Given the description of an element on the screen output the (x, y) to click on. 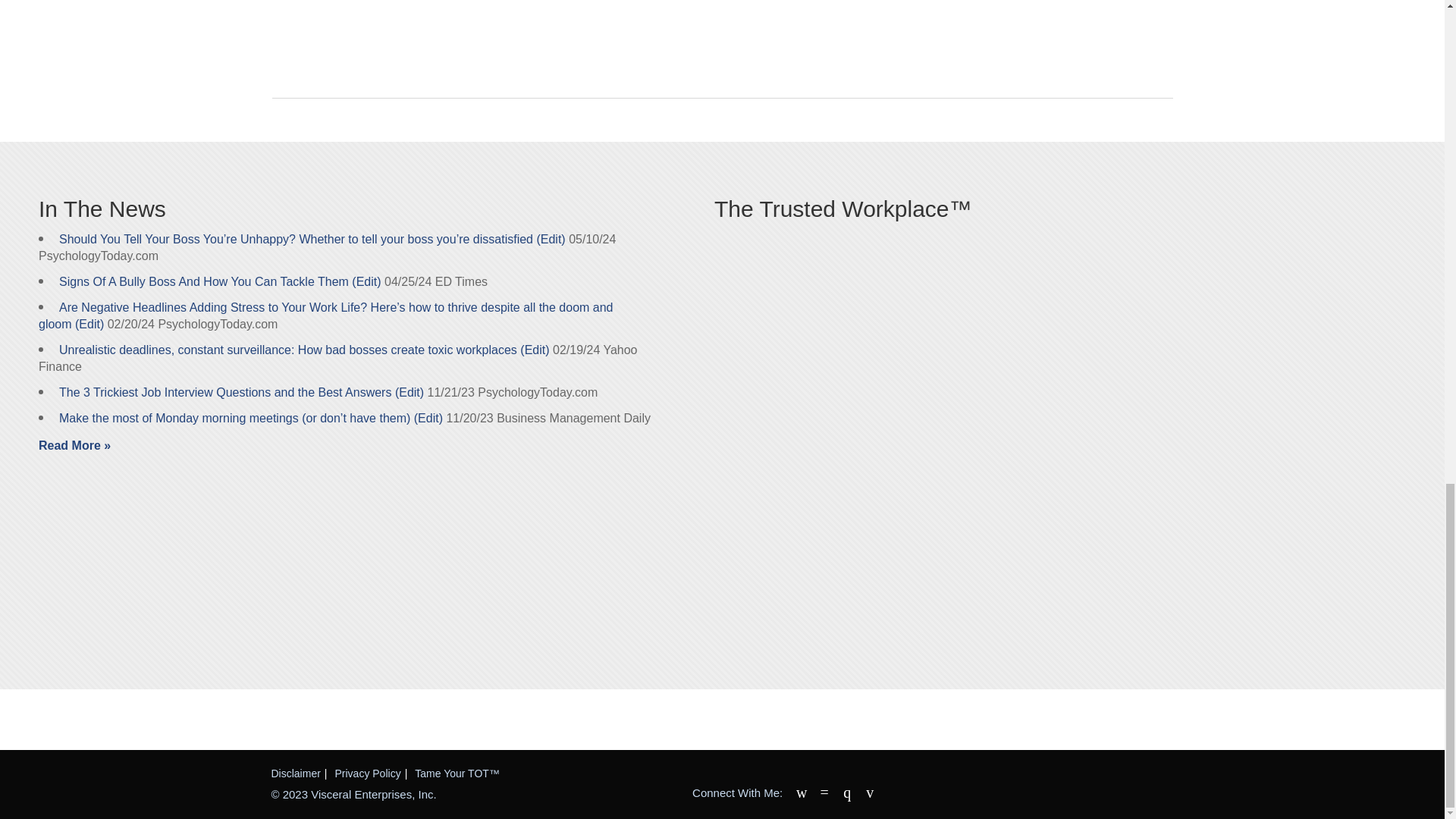
The 3 Trickiest Job Interview Questions and the Best Answers (225, 391)
Signs Of A Bully Boss And How You Can Tackle Them (204, 281)
Privacy Policy (367, 773)
Disclaimer (295, 773)
